Given the description of an element on the screen output the (x, y) to click on. 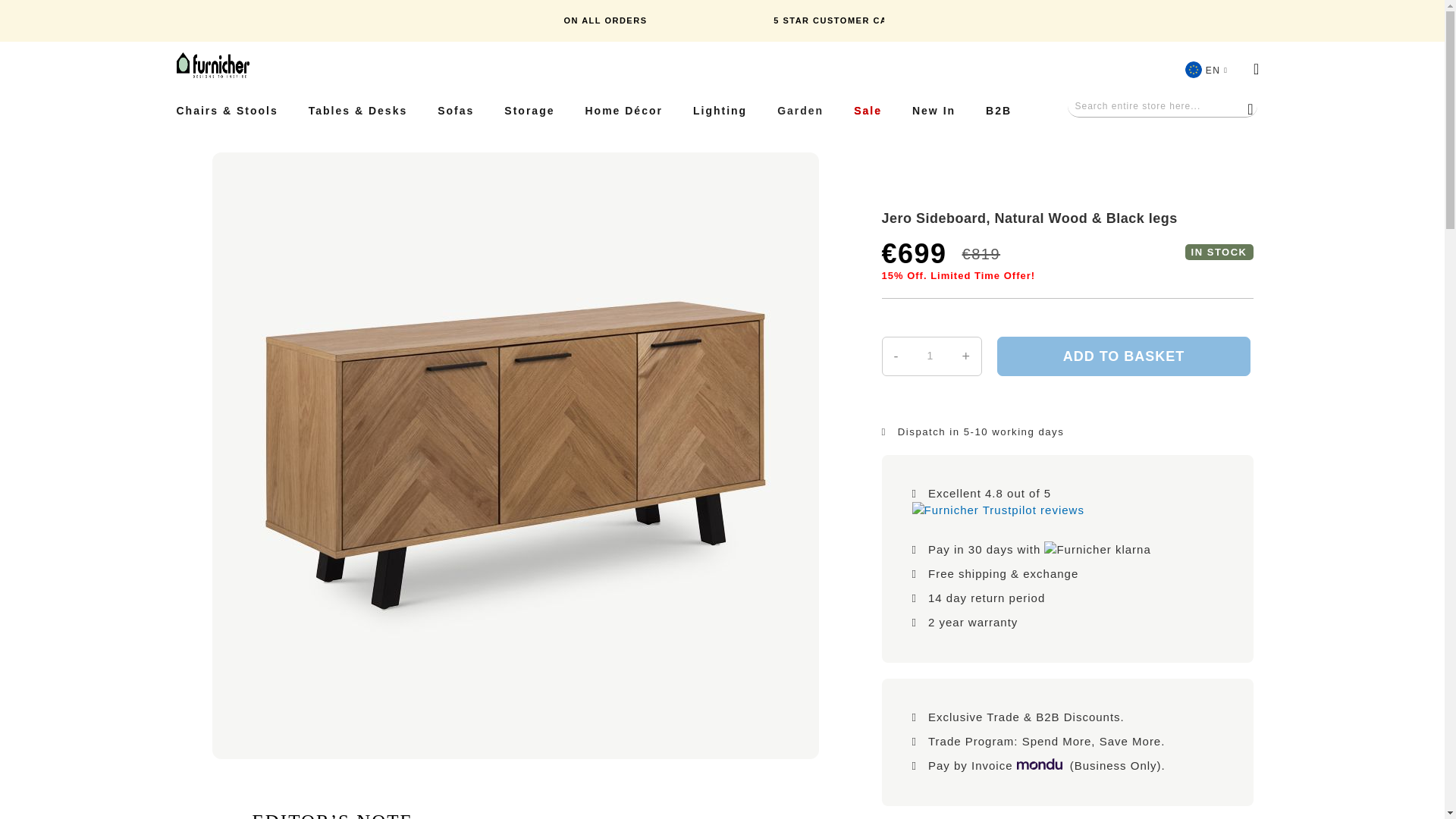
Qty (930, 356)
Furnicher (212, 64)
1 (930, 356)
Availability (1219, 252)
Add to Basket (1123, 355)
MY BASKET (1256, 68)
